Given the description of an element on the screen output the (x, y) to click on. 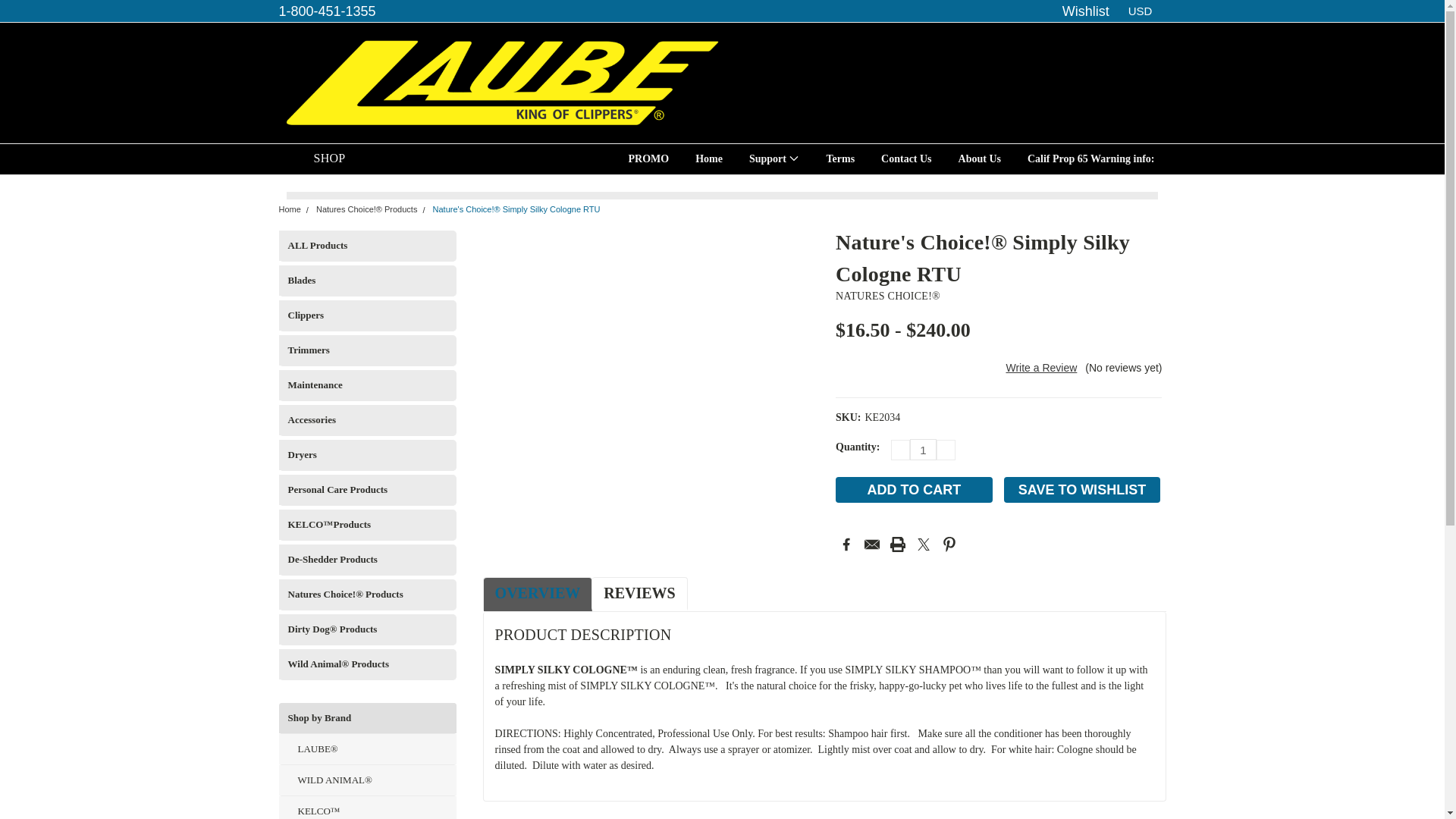
Email (871, 544)
USD (1143, 11)
Print (897, 544)
Twitter (923, 544)
Wishlist (1085, 11)
Facebook (845, 544)
1 (923, 449)
Laubeshop (500, 82)
Pinterest (949, 544)
Add to Cart (913, 489)
